Given the description of an element on the screen output the (x, y) to click on. 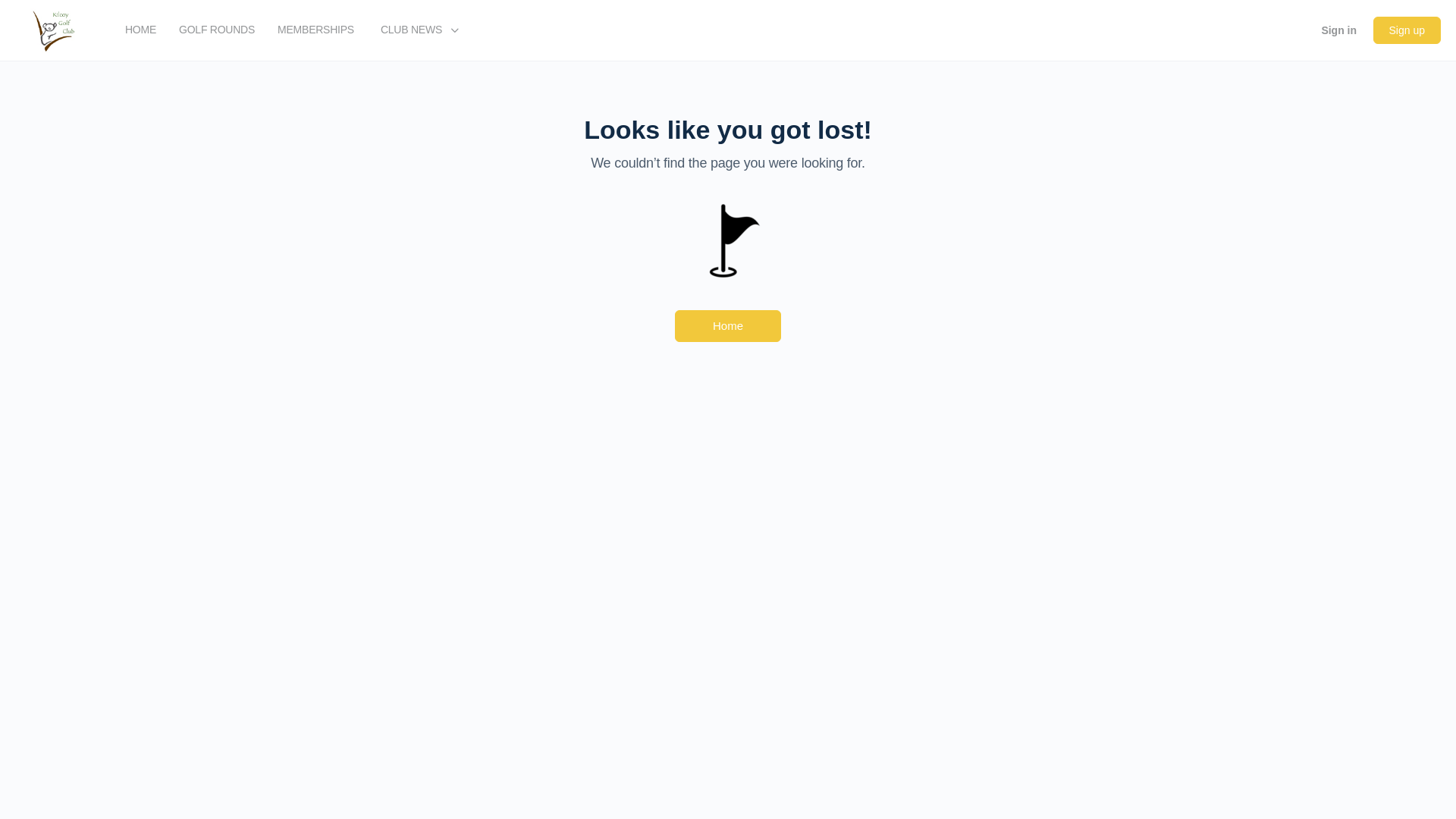
CLUB NEWS Element type: text (417, 30)
HOME Element type: text (140, 30)
Home Element type: text (727, 326)
GOLF ROUNDS Element type: text (216, 30)
MEMBERSHIPS Element type: text (315, 30)
Sign in Element type: text (1338, 29)
Sign up Element type: text (1406, 29)
